Given the description of an element on the screen output the (x, y) to click on. 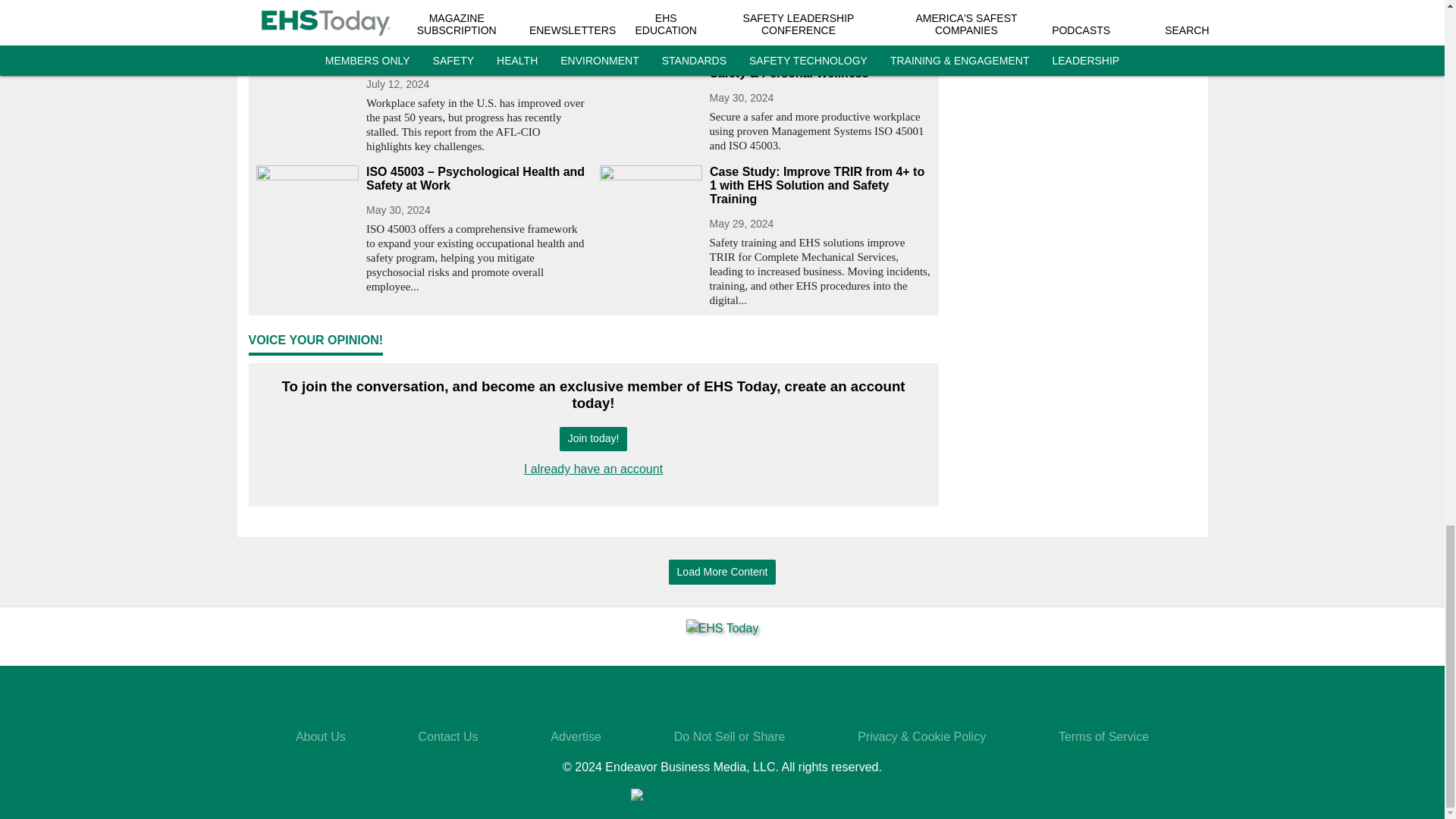
Join today! (593, 439)
I already have an account (593, 468)
10 Facts About the State of Workplace Safety in the U.S. (476, 52)
